Given the description of an element on the screen output the (x, y) to click on. 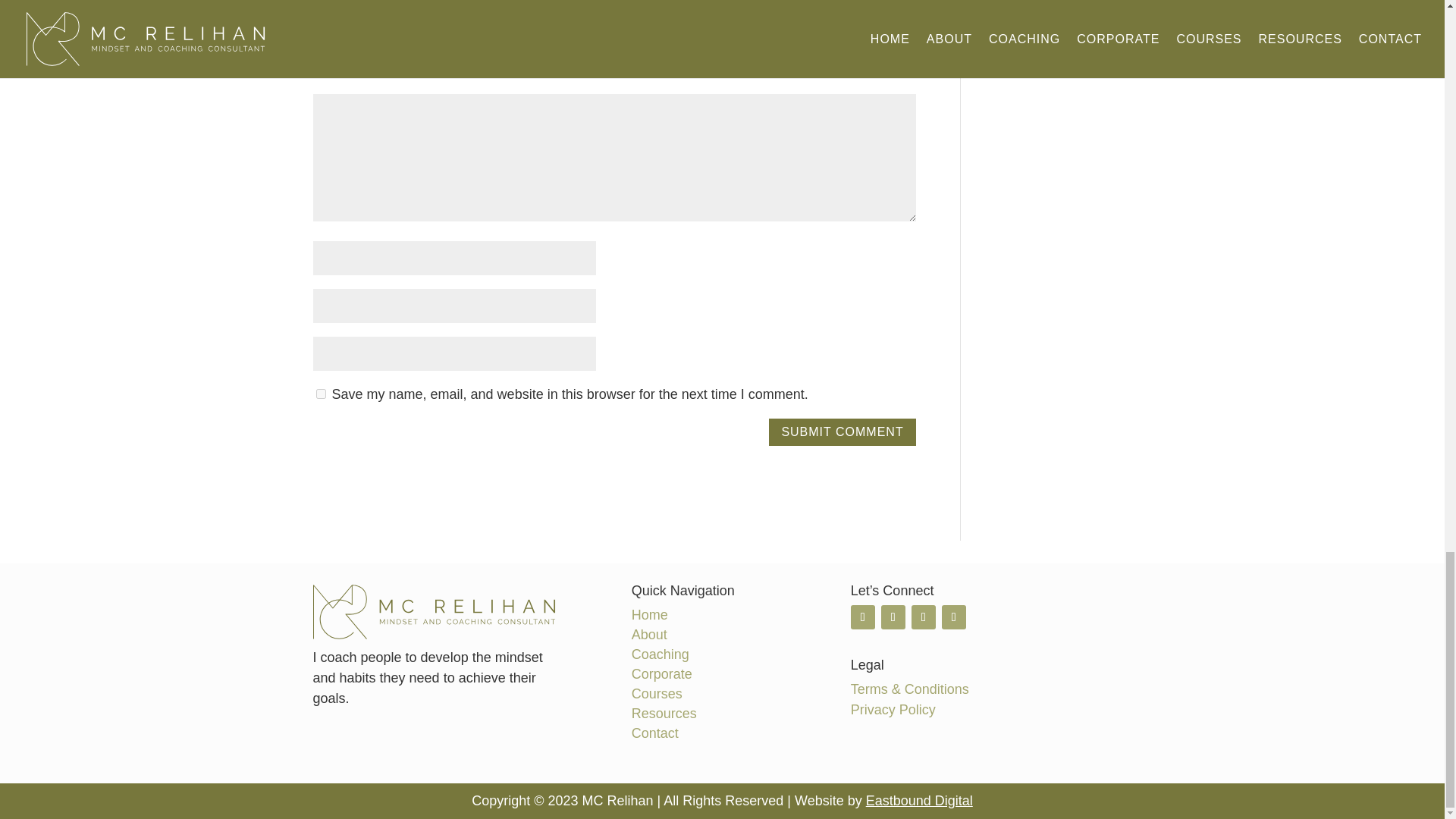
Home (649, 614)
Follow on Instagram (923, 617)
Eastbound Digital (919, 800)
yes (319, 393)
Resources (664, 713)
Privacy Policy (893, 709)
Follow on Facebook (954, 617)
About (648, 634)
MC Relihan Logo Main (433, 611)
Contact (654, 733)
Corporate (662, 673)
Courses (656, 693)
Coaching (659, 654)
Submit Comment (841, 432)
Follow on LinkedIn (892, 617)
